Given the description of an element on the screen output the (x, y) to click on. 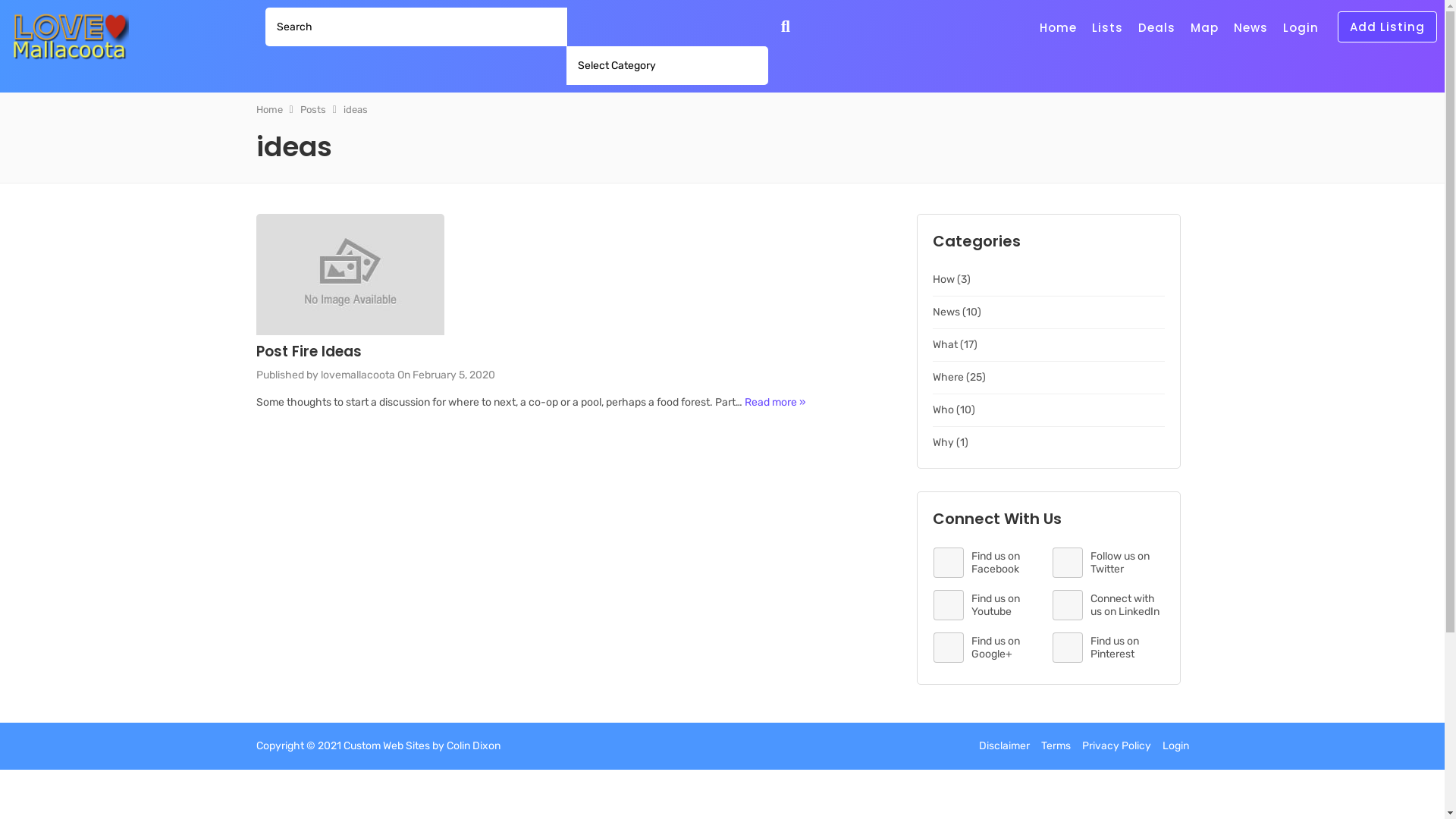
Why Element type: text (942, 442)
Posts Element type: text (313, 109)
lovemallacoota Element type: text (357, 374)
Map Element type: text (1204, 27)
Home Element type: text (1057, 27)
Connect with us on LinkedIn Element type: text (1108, 604)
Post Fire Ideas Element type: hover (350, 331)
Lists Element type: text (1107, 27)
Find us on Pinterest Element type: text (1108, 647)
Custom Web Sites Element type: text (385, 745)
Who Element type: text (942, 409)
Login Element type: text (1300, 27)
Find us on Google+ Element type: text (989, 647)
Login Element type: text (1174, 745)
News Element type: text (946, 311)
Post Fire Ideas Element type: text (308, 351)
Add Listing Element type: text (1387, 26)
News Element type: text (1250, 27)
Find us on Facebook Element type: text (989, 562)
Love Mallacoota Element type: hover (67, 31)
Follow us on Twitter Element type: text (1108, 562)
What Element type: text (944, 344)
Terms Element type: text (1055, 745)
Find us on Youtube Element type: text (989, 604)
Deals Element type: text (1156, 27)
Privacy Policy Element type: text (1115, 745)
Search Element type: text (783, 26)
Where Element type: text (947, 376)
How Element type: text (943, 279)
Home Element type: text (269, 109)
Disclaimer Element type: text (1003, 745)
